Given the description of an element on the screen output the (x, y) to click on. 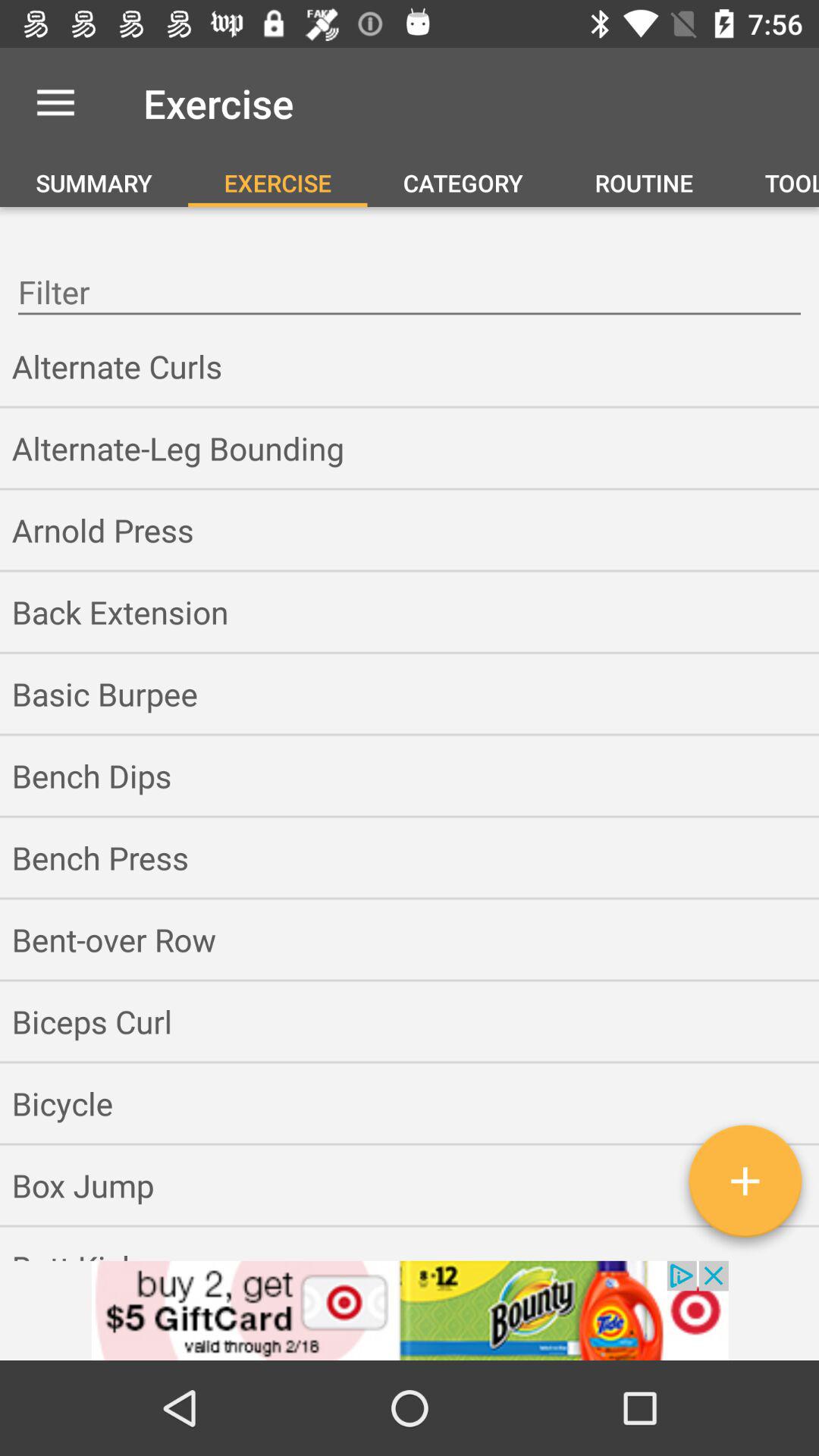
plus an exercise (745, 1186)
